Given the description of an element on the screen output the (x, y) to click on. 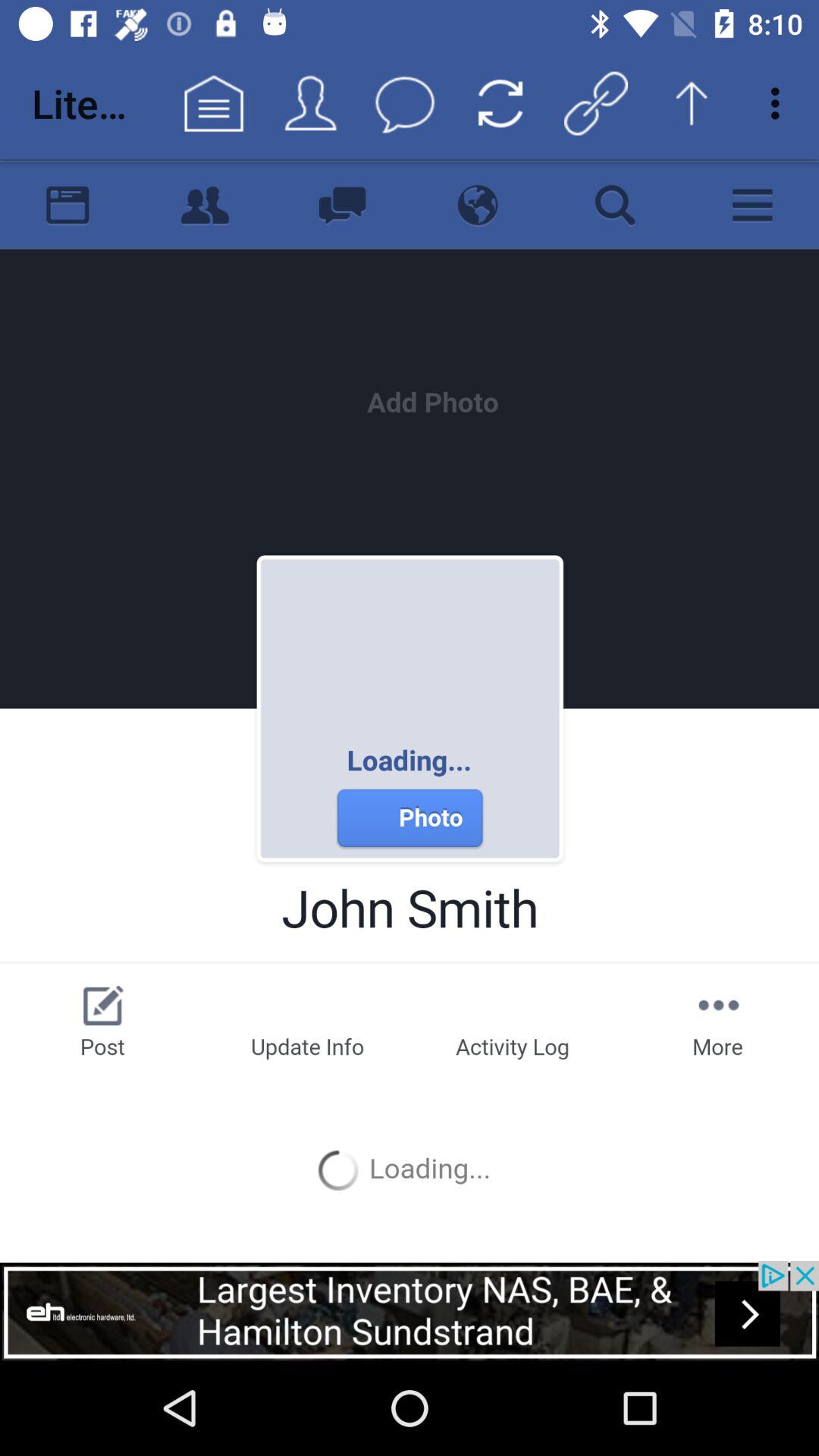
loading page (409, 709)
